Given the description of an element on the screen output the (x, y) to click on. 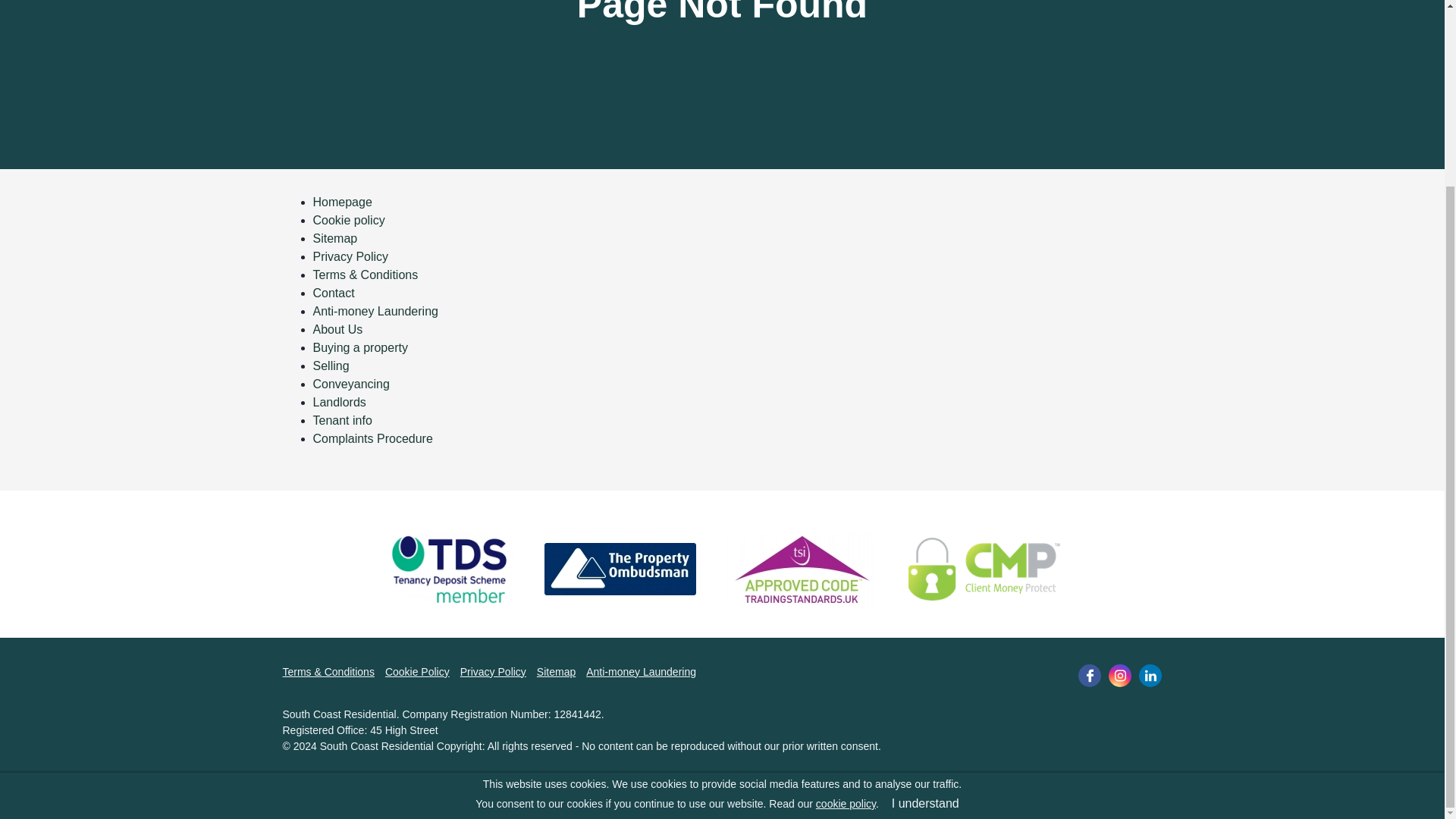
Anti-money Laundering (375, 309)
Cookie Policy (417, 671)
About Us (337, 328)
Selling (331, 364)
Privacy Policy (350, 255)
Complaints Procedure (372, 437)
Conveyancing (350, 382)
Landlords (339, 400)
Contact (333, 291)
Anti-money Laundering (640, 671)
Homepage (342, 201)
Sitemap (556, 671)
Sitemap (334, 237)
cookie policy (845, 572)
Cookie policy (348, 219)
